Given the description of an element on the screen output the (x, y) to click on. 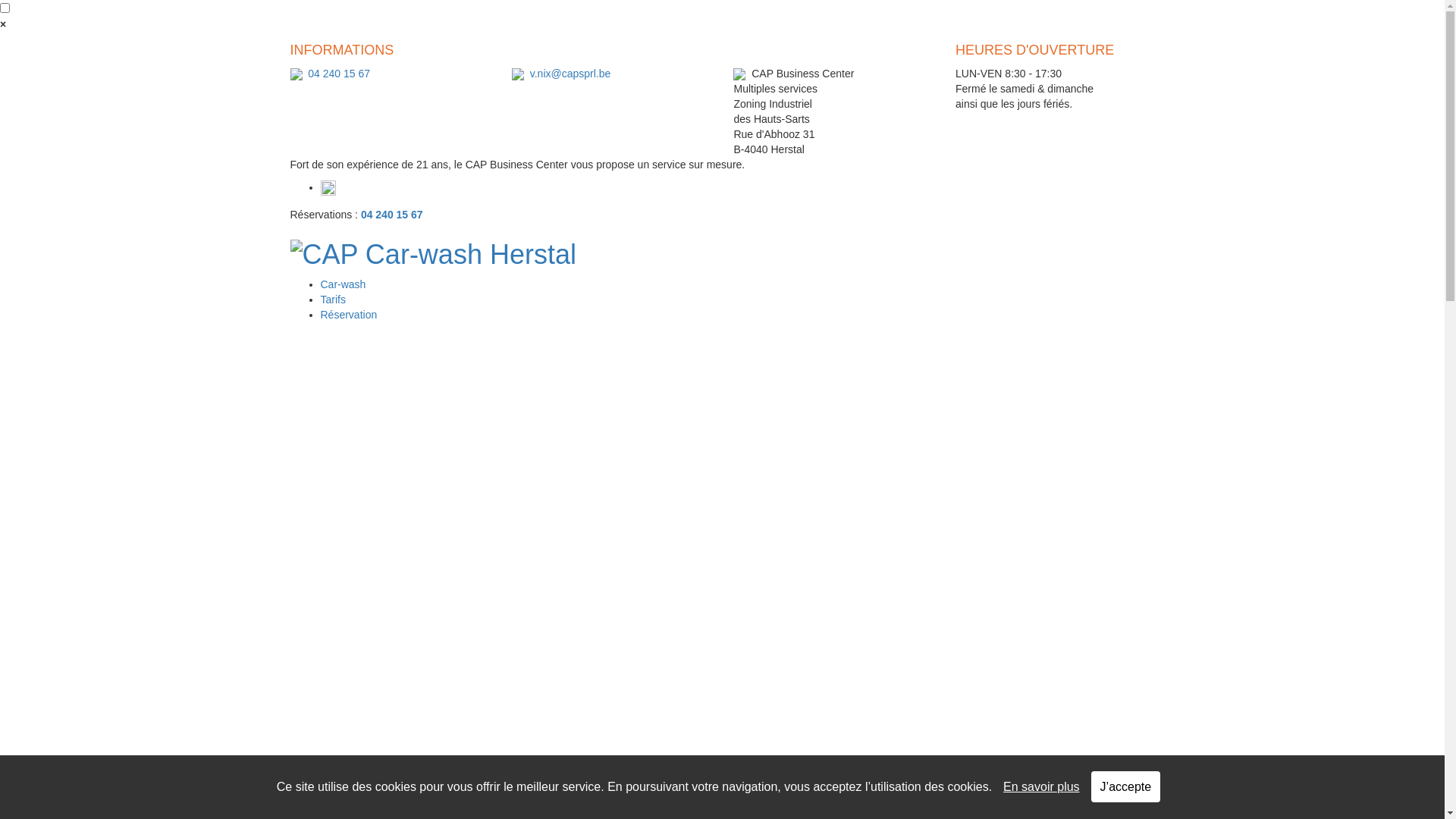
v.nix@capsprl.be Element type: text (570, 73)
04 240 15 67 Element type: text (391, 214)
Tarifs Element type: text (332, 299)
Car-wash Element type: text (342, 284)
En savoir plus Element type: text (1041, 786)
04 240 15 67 Element type: text (338, 73)
CAP Car-wash Herstal Element type: hover (432, 254)
